Given the description of an element on the screen output the (x, y) to click on. 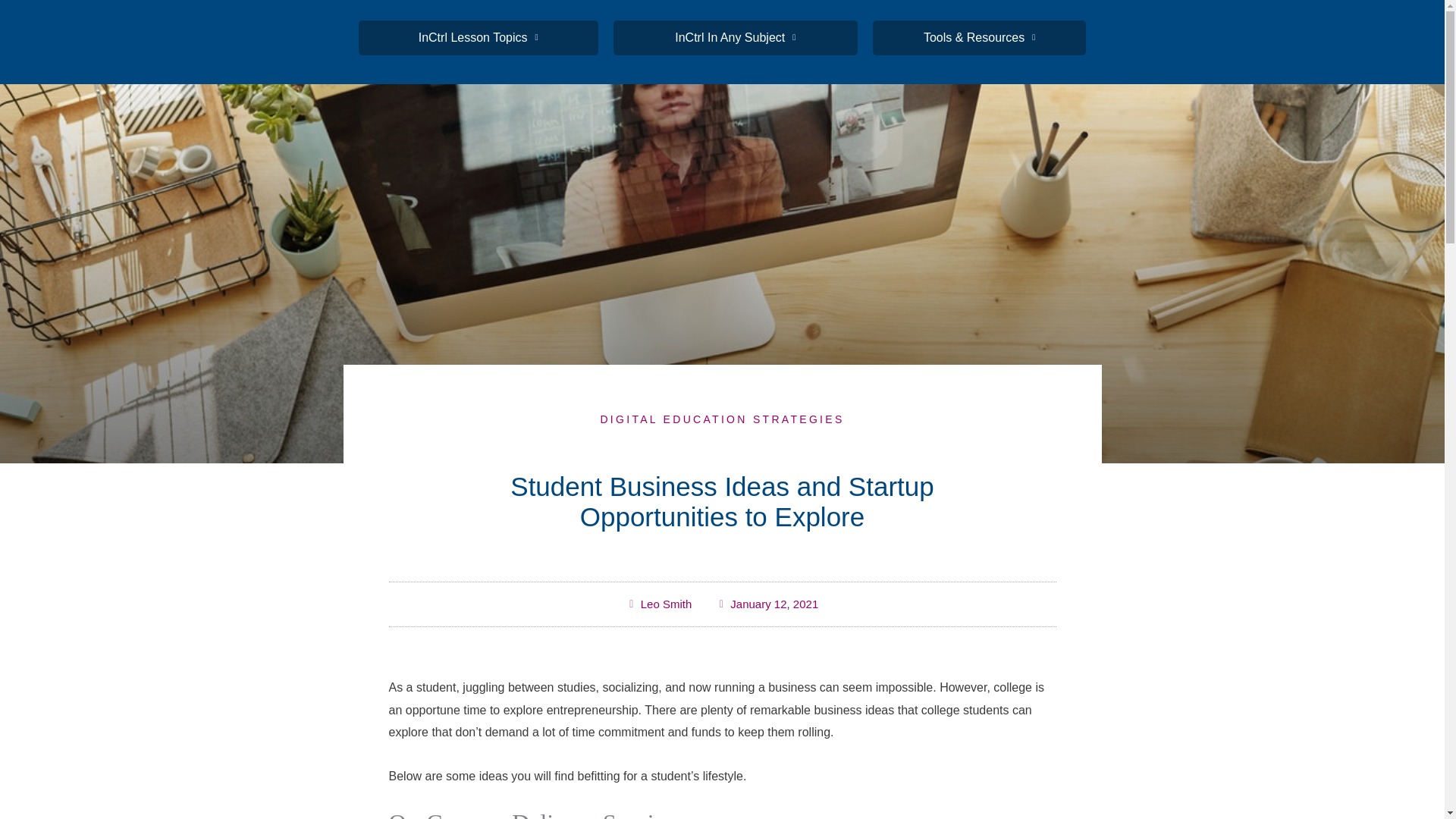
InCtrl In Any Subject (734, 37)
DIGITAL EDUCATION STRATEGIES (721, 419)
Leo Smith (659, 604)
January 12, 2021 (767, 604)
InCtrl Lesson Topics (478, 37)
